Given the description of an element on the screen output the (x, y) to click on. 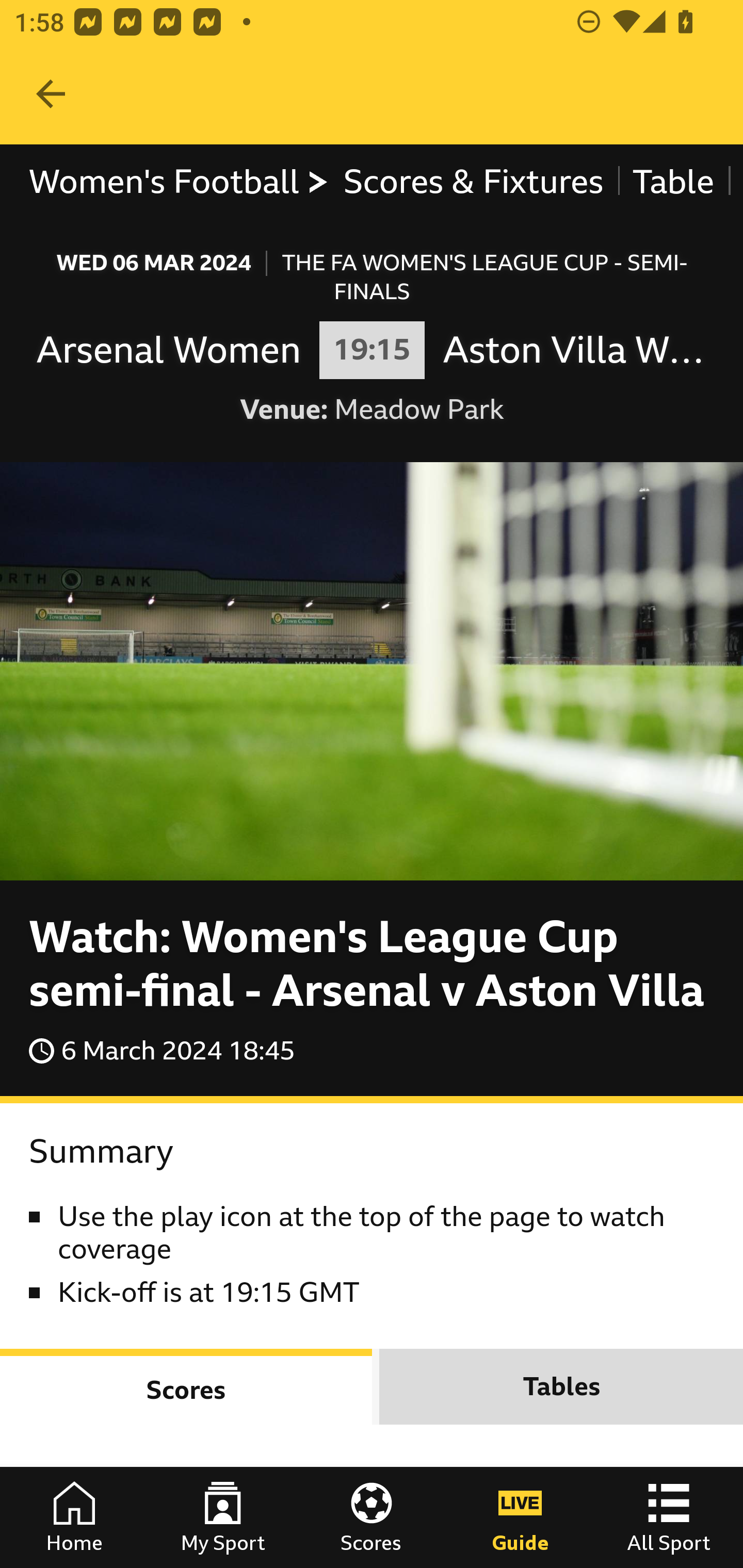
Navigate up (50, 93)
Women's Football  (178, 181)
Scores & Fixtures (473, 181)
Table (673, 181)
Scores (186, 1386)
Tables (560, 1386)
Home (74, 1517)
My Sport (222, 1517)
Scores (371, 1517)
All Sport (668, 1517)
